Given the description of an element on the screen output the (x, y) to click on. 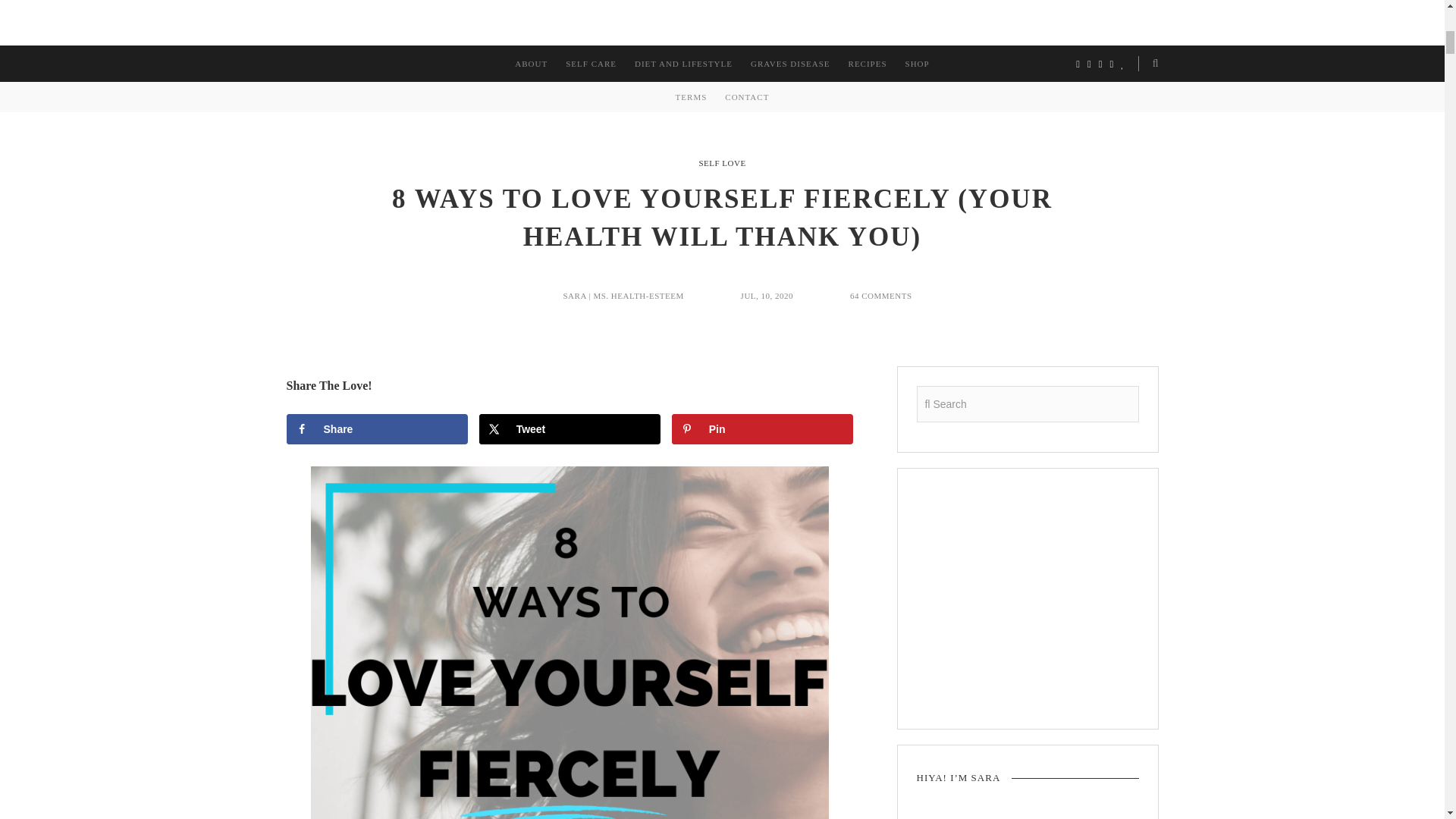
Share on X (570, 429)
Share on Facebook (376, 429)
Save to Pinterest (762, 429)
ABOUT (530, 63)
